Given the description of an element on the screen output the (x, y) to click on. 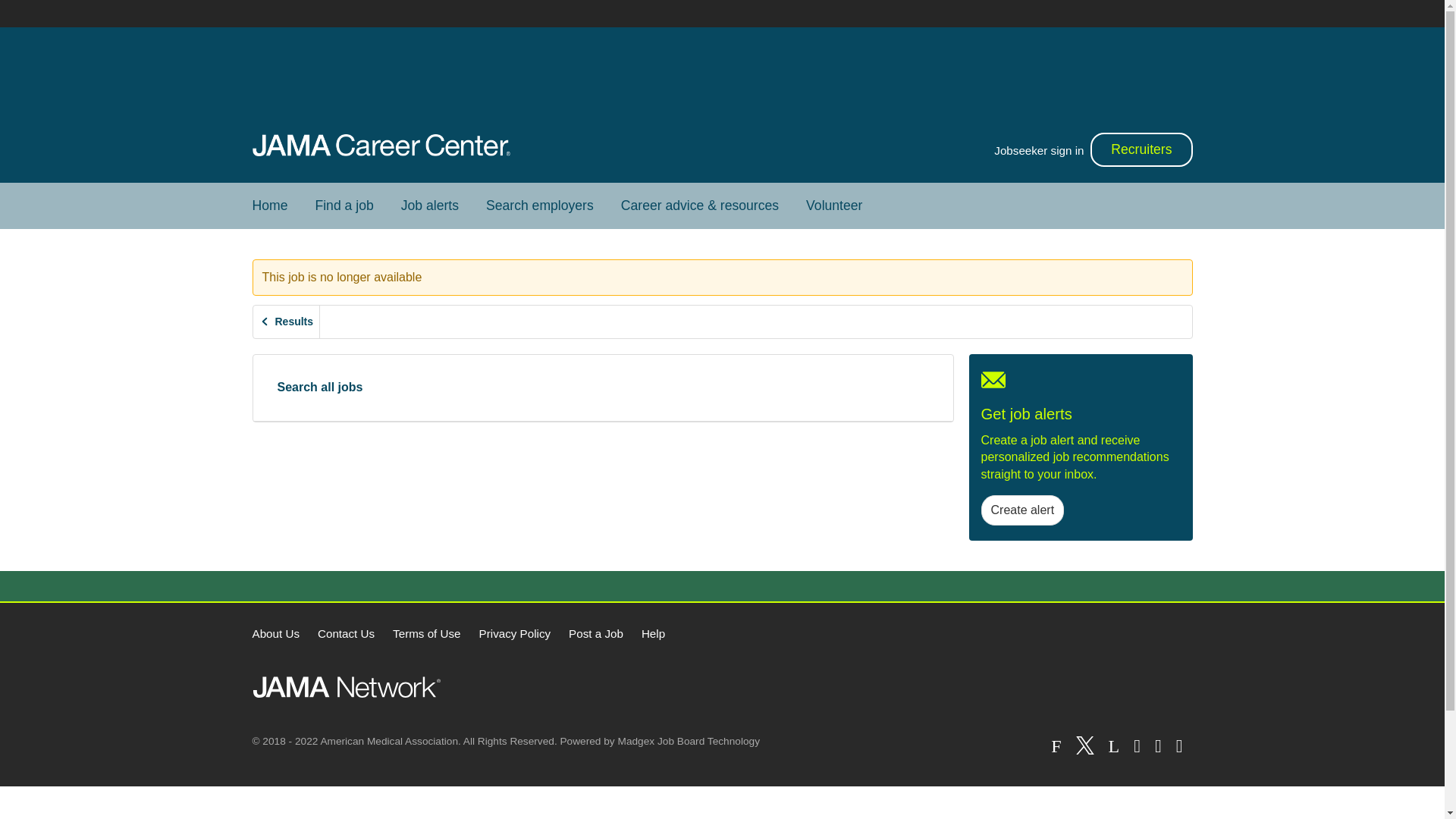
JAMA Network (346, 687)
JAMA Career Center (380, 145)
